Given the description of an element on the screen output the (x, y) to click on. 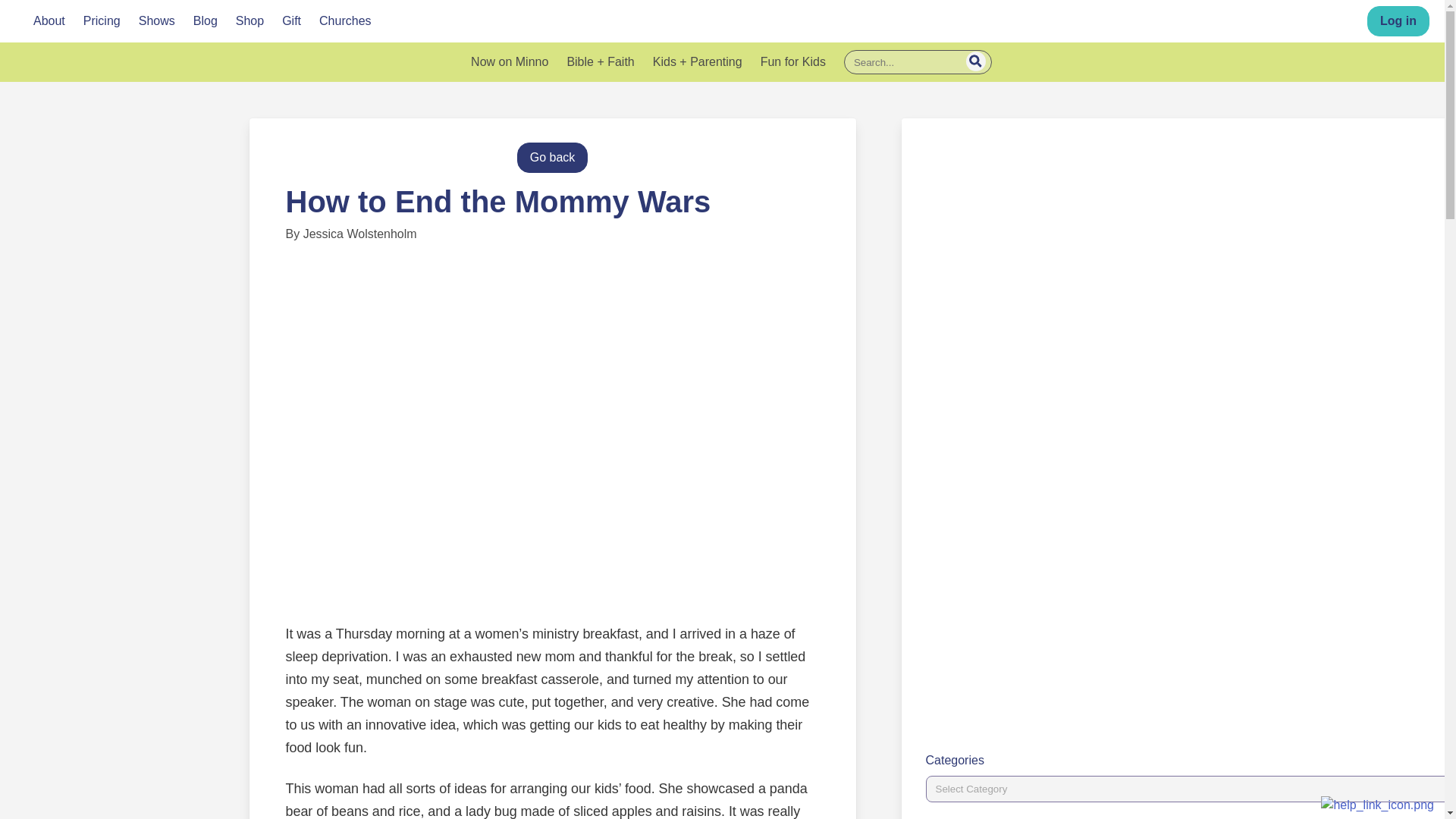
About (49, 21)
Churches (344, 21)
Gift (291, 21)
Go (975, 61)
Fun for Kids (792, 61)
Go back (552, 157)
Shop (249, 21)
Shows (156, 21)
Pricing (101, 21)
Blog (204, 21)
